Given the description of an element on the screen output the (x, y) to click on. 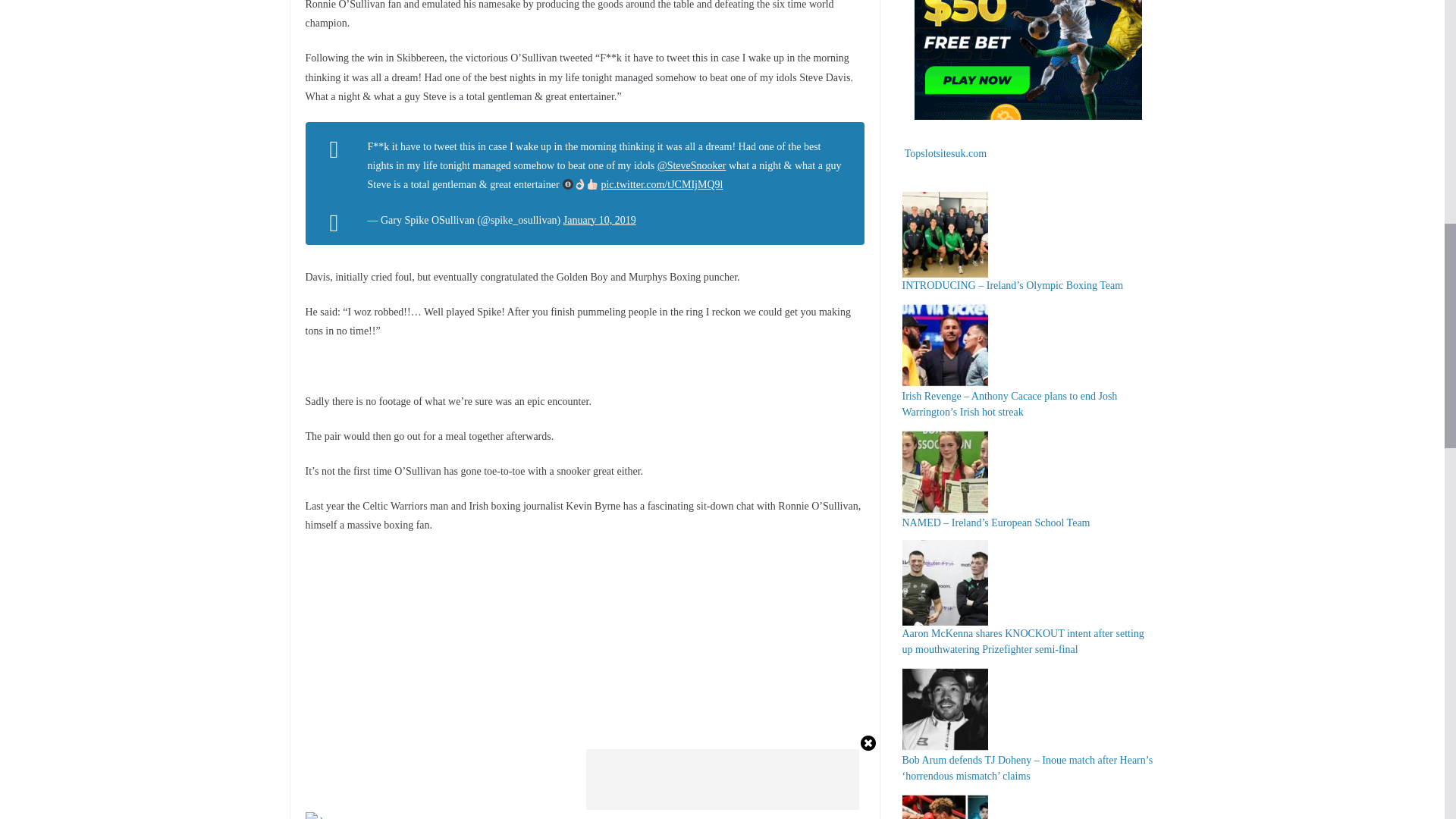
January 10, 2019 (599, 220)
